Given the description of an element on the screen output the (x, y) to click on. 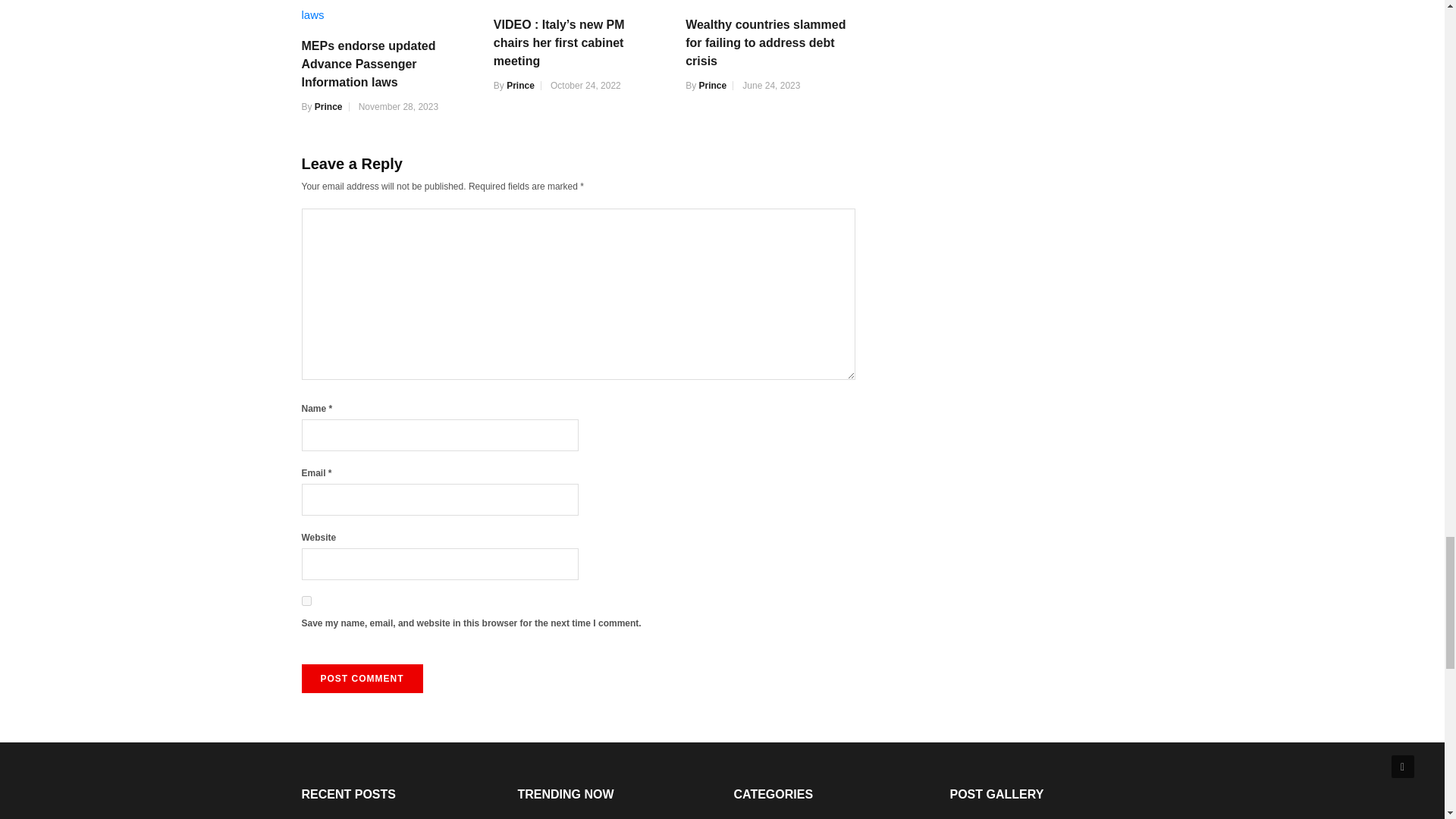
Posts by Prince (328, 106)
yes (306, 601)
Post Comment (362, 678)
Wealthy countries slammed for failing to address debt crisis (769, 2)
Posts by Prince (520, 85)
MEPs endorse updated Advance Passenger Information laws (385, 12)
Posts by Prince (712, 85)
